Given the description of an element on the screen output the (x, y) to click on. 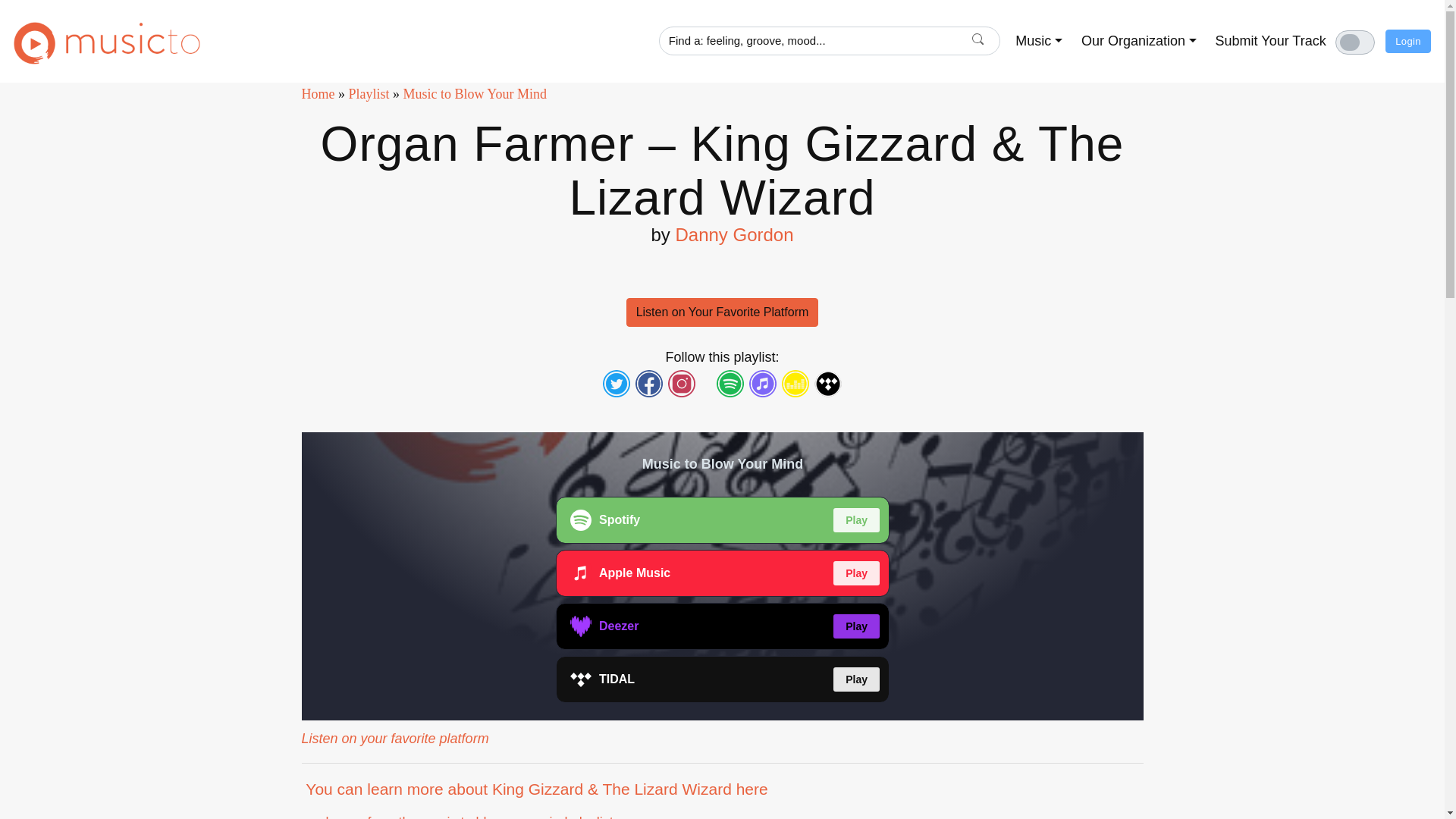
Music (1038, 40)
Our Organization (1138, 40)
Listen on Tidal (828, 383)
Listen on Apple Music (762, 383)
Danny Gordon (734, 234)
read more from the music to blow your mind playlist (456, 816)
Music to Blow Your Mind  on Facebook (648, 383)
Music to Blow Your Mind  on Instagram (680, 383)
Music to Blow Your Mind  on Twitter (616, 383)
Our Organization (1138, 40)
Music (1038, 40)
Submit Your Track (1270, 40)
Music to Blow Your Mind (475, 93)
Listen on Your Favorite Platform (722, 312)
Playlist (369, 93)
